Given the description of an element on the screen output the (x, y) to click on. 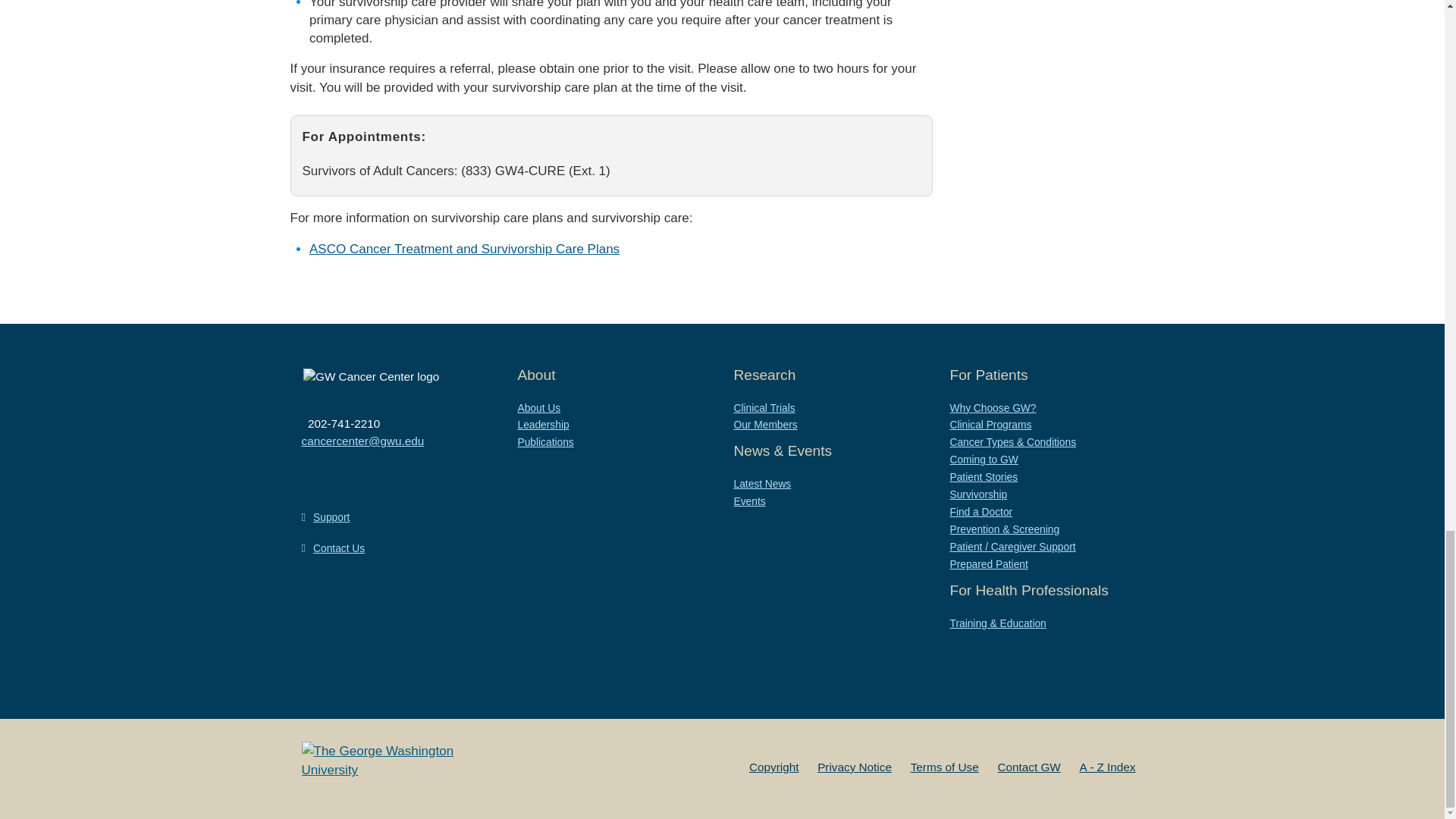
The George Washington University (398, 761)
